Given the description of an element on the screen output the (x, y) to click on. 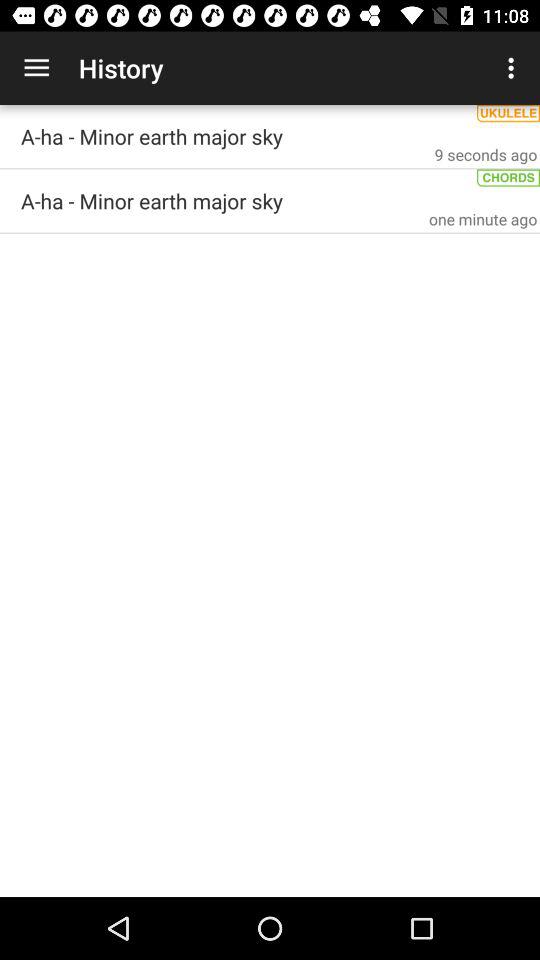
select the item above a ha minor item (36, 68)
